Given the description of an element on the screen output the (x, y) to click on. 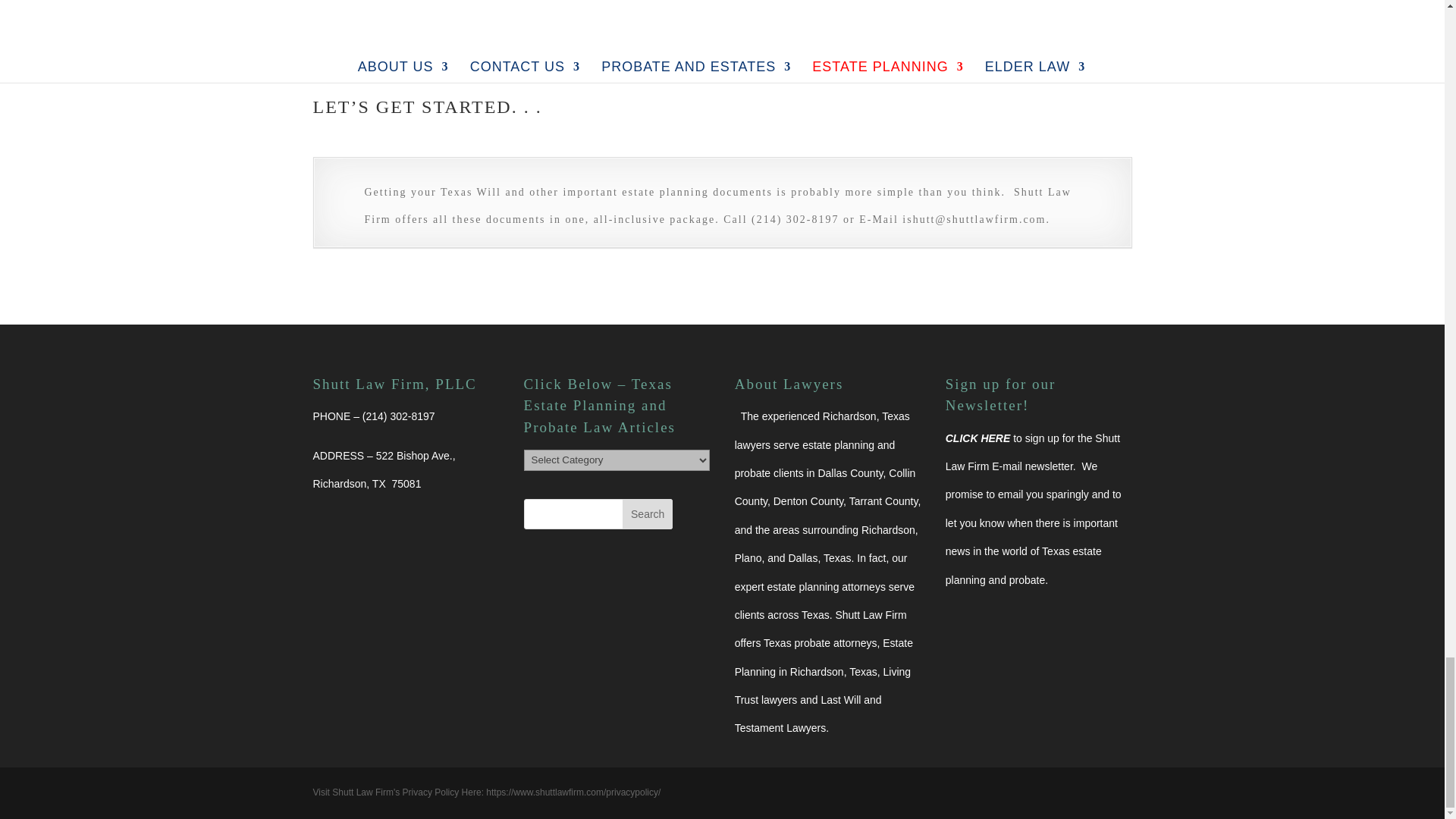
Search (647, 513)
